Given the description of an element on the screen output the (x, y) to click on. 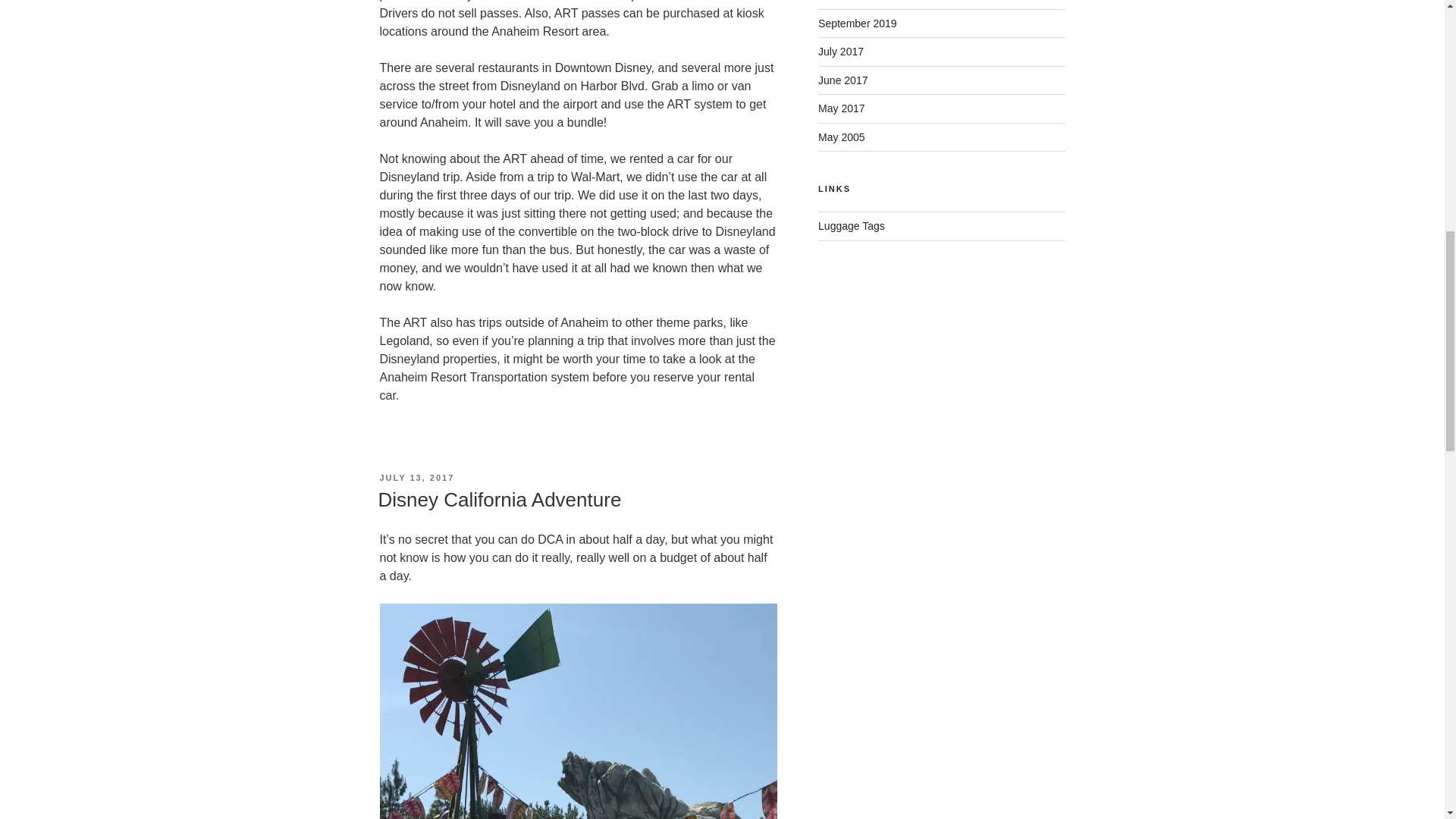
Luggage Tags (851, 225)
June 2017 (842, 80)
May 2017 (841, 108)
July 2017 (840, 51)
Disney California Adventure (499, 499)
September 2019 (857, 23)
JULY 13, 2017 (416, 477)
May 2005 (841, 136)
